Given the description of an element on the screen output the (x, y) to click on. 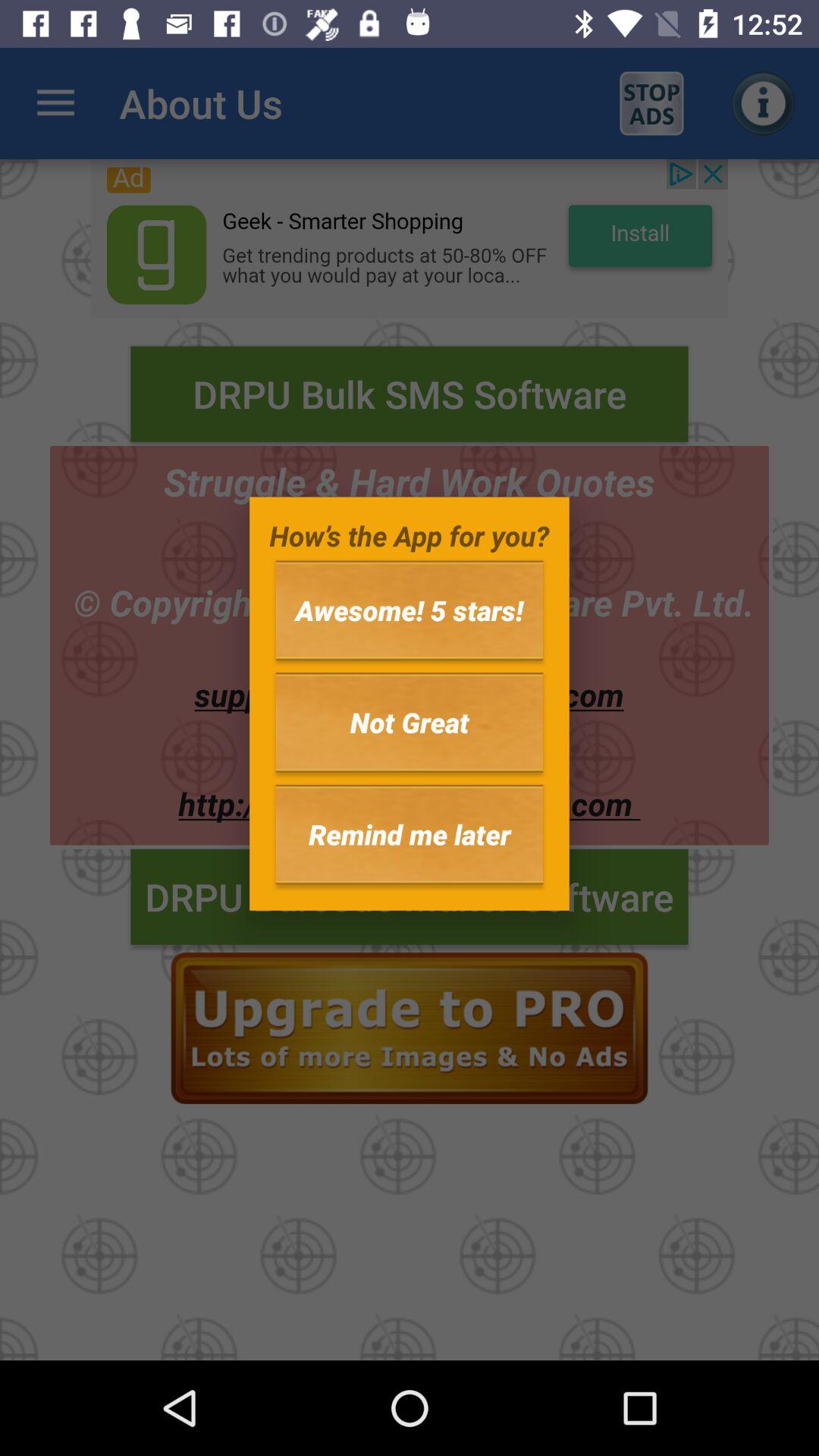
scroll to awesome! 5 stars! (409, 610)
